Given the description of an element on the screen output the (x, y) to click on. 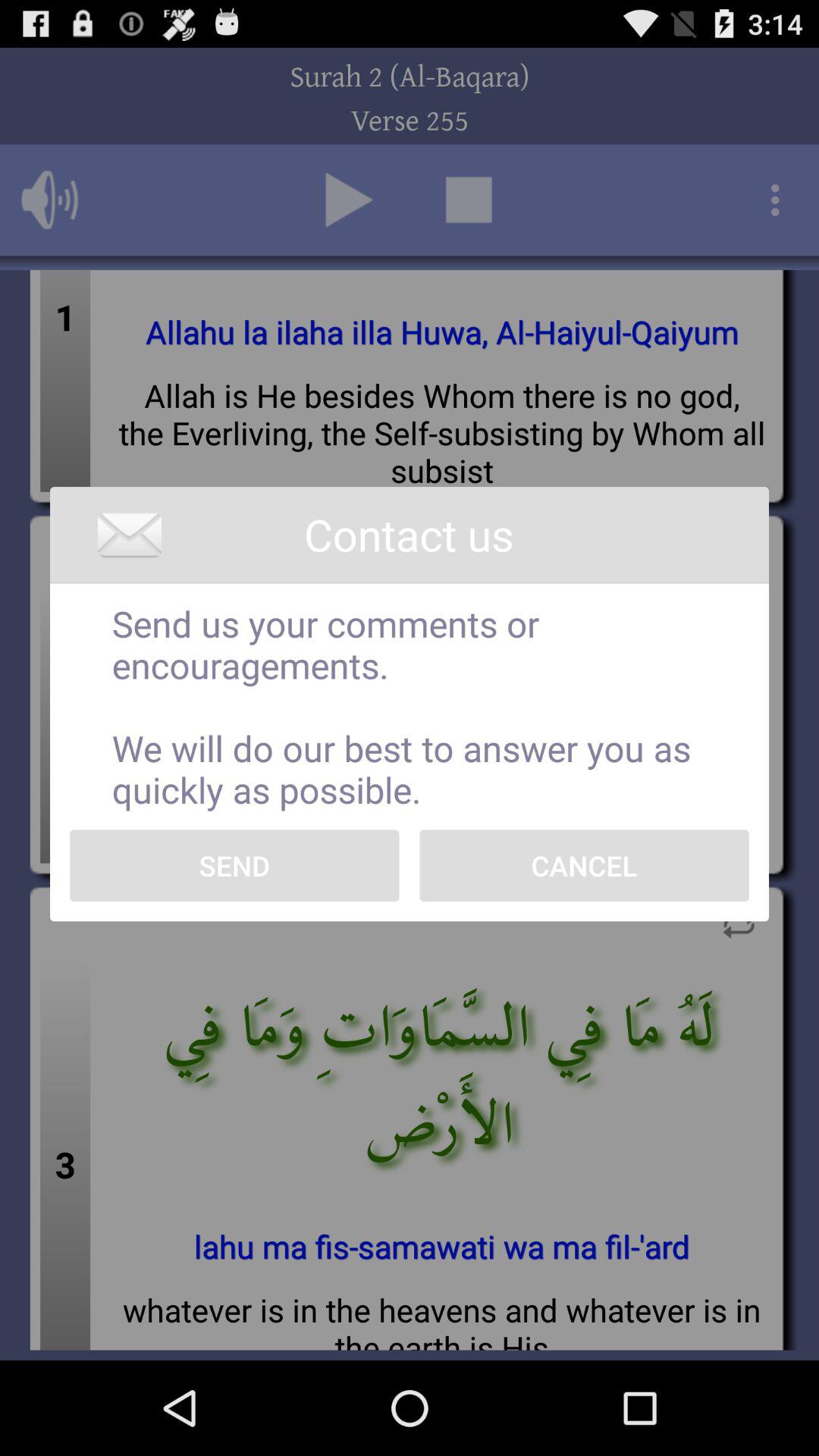
click the send us your item (409, 706)
